Given the description of an element on the screen output the (x, y) to click on. 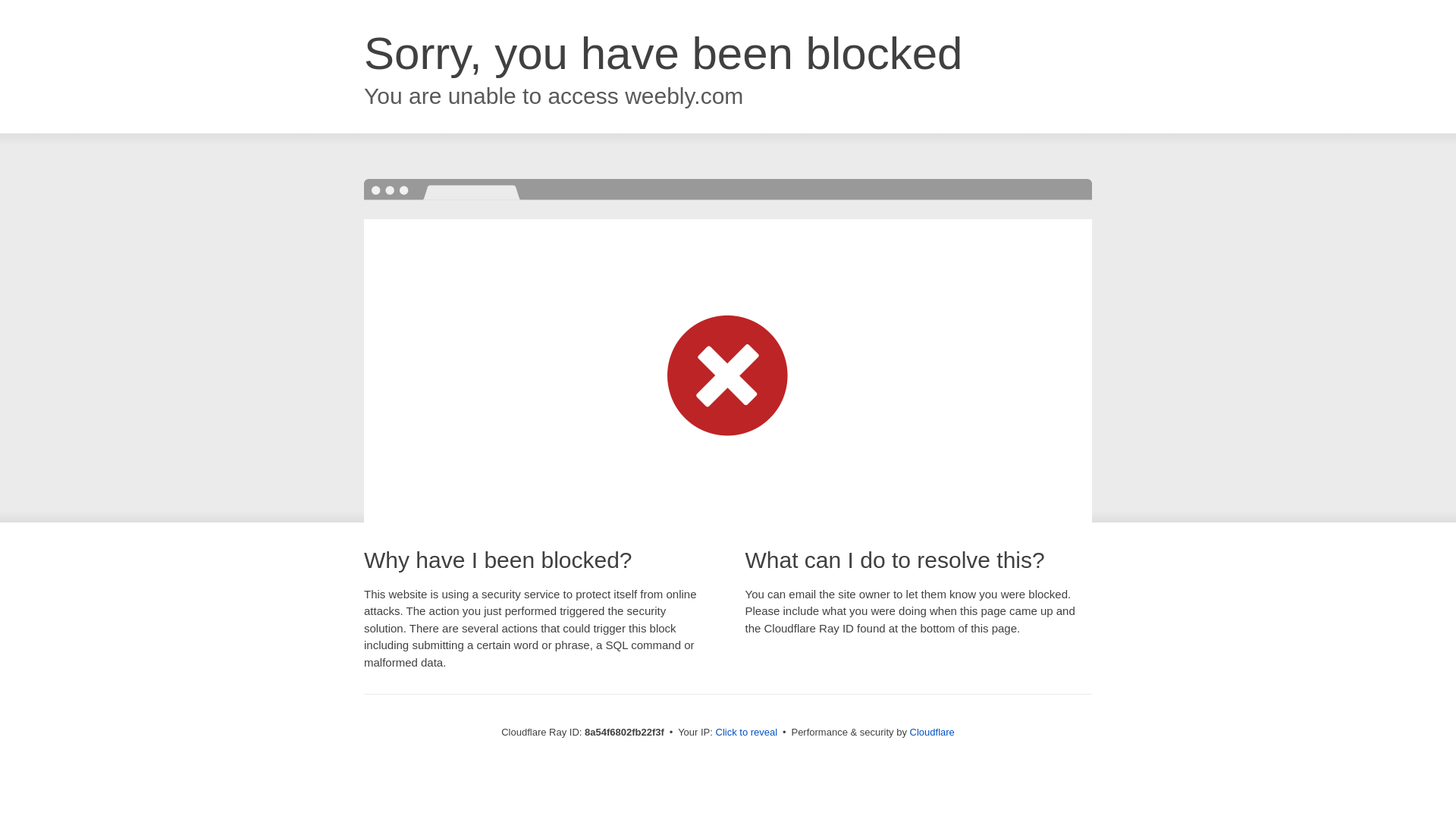
Click to reveal (746, 732)
Cloudflare (932, 731)
